Given the description of an element on the screen output the (x, y) to click on. 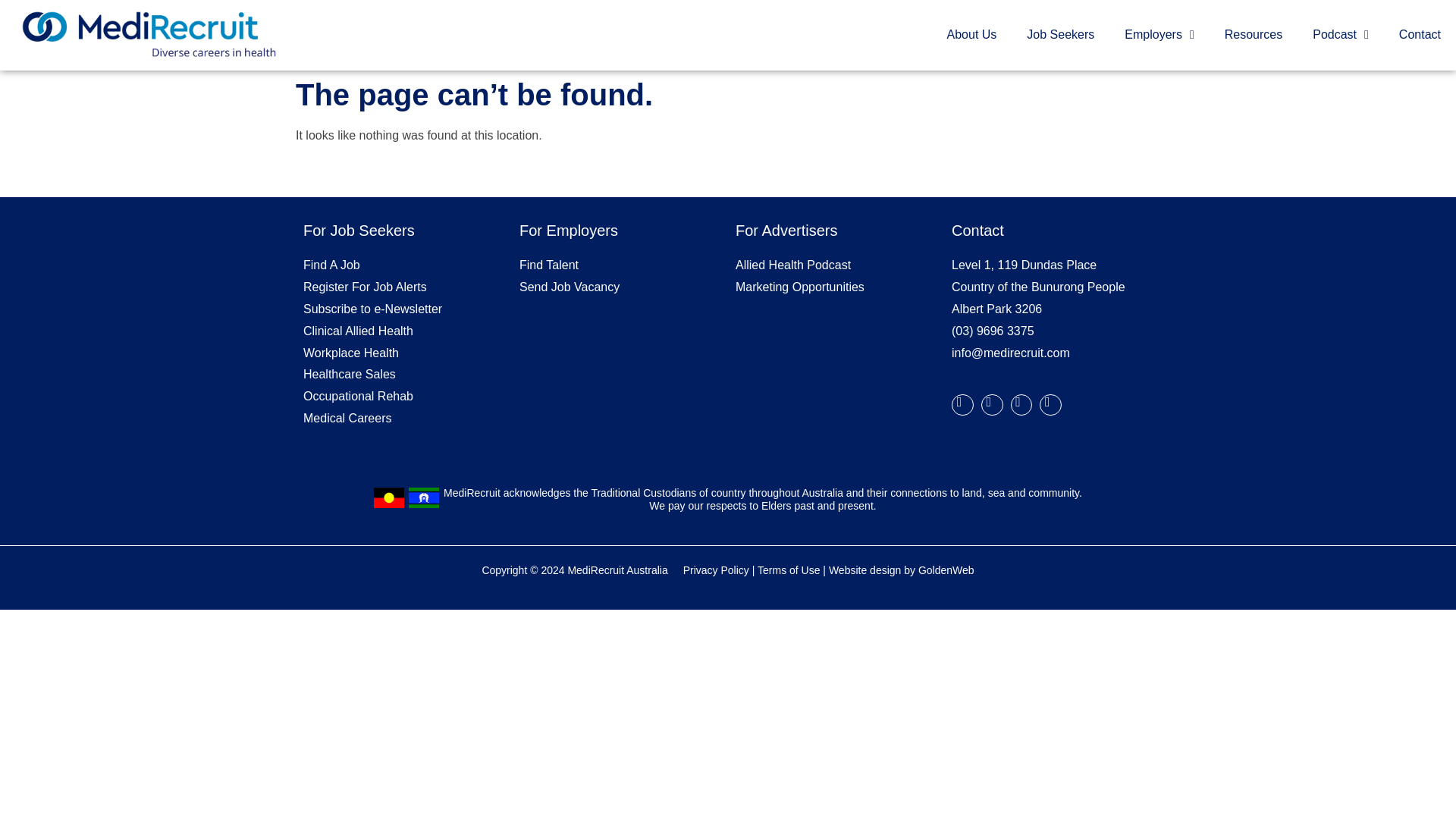
Podcast (1340, 35)
Resources (1253, 35)
Job Seekers (1060, 35)
Employers (1158, 35)
About Us (971, 35)
